Given the description of an element on the screen output the (x, y) to click on. 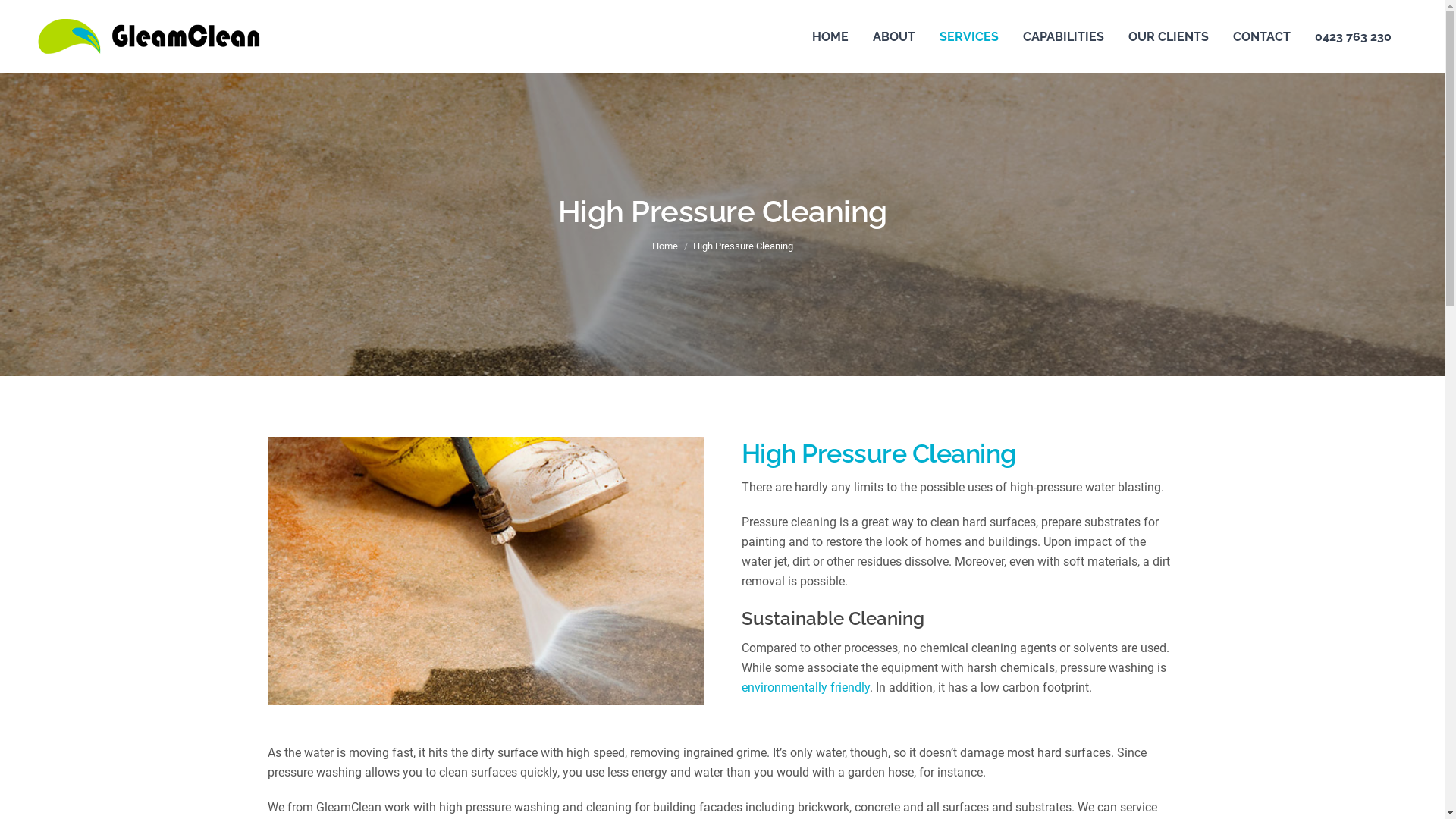
CAPABILITIES Element type: text (1063, 36)
environmentally friendly Element type: text (805, 687)
CONTACT Element type: text (1261, 36)
OUR CLIENTS Element type: text (1168, 36)
Home Element type: text (664, 245)
High-Pressure-Cleaning Element type: hover (484, 570)
ABOUT Element type: text (893, 36)
SERVICES Element type: text (968, 36)
0423 763 230 Element type: text (1352, 36)
HOME Element type: text (830, 36)
